Given the description of an element on the screen output the (x, y) to click on. 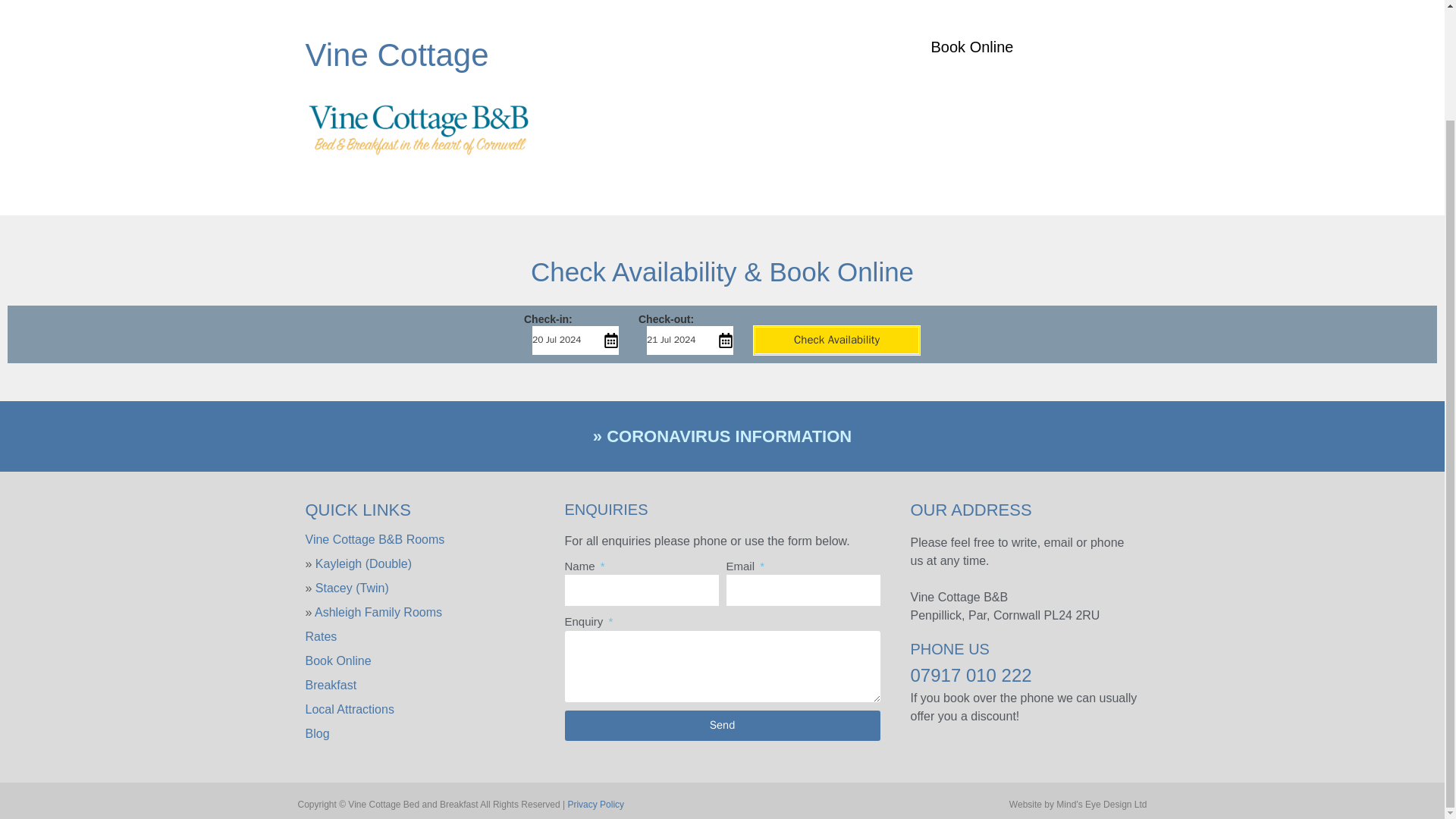
Local Attractions (348, 708)
Rates (320, 635)
21 Jul 2024 (688, 340)
Check Availability (836, 340)
20 Jul 2024 (573, 340)
Book Online (337, 660)
07917 010 222 (970, 675)
Breakfast (330, 684)
Send (721, 725)
Ashleigh Family Rooms (378, 612)
Blog (316, 733)
Privacy Policy (595, 804)
